Given the description of an element on the screen output the (x, y) to click on. 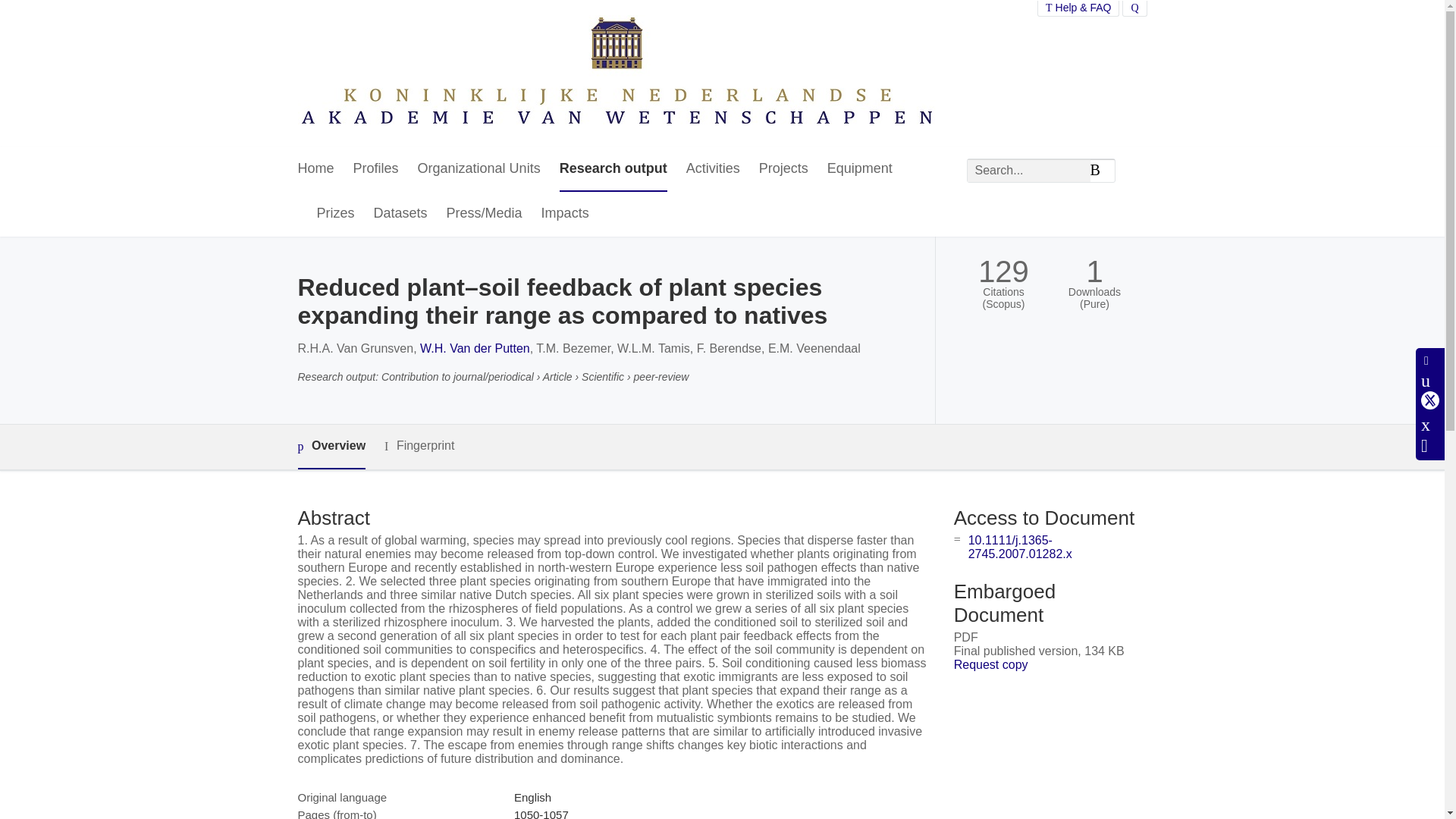
Impacts (565, 213)
Organizational Units (478, 169)
W.H. Van der Putten (474, 348)
Research output (612, 169)
Request copy (990, 664)
Datasets (401, 213)
Equipment (859, 169)
Profiles (375, 169)
Overview (331, 447)
